Given the description of an element on the screen output the (x, y) to click on. 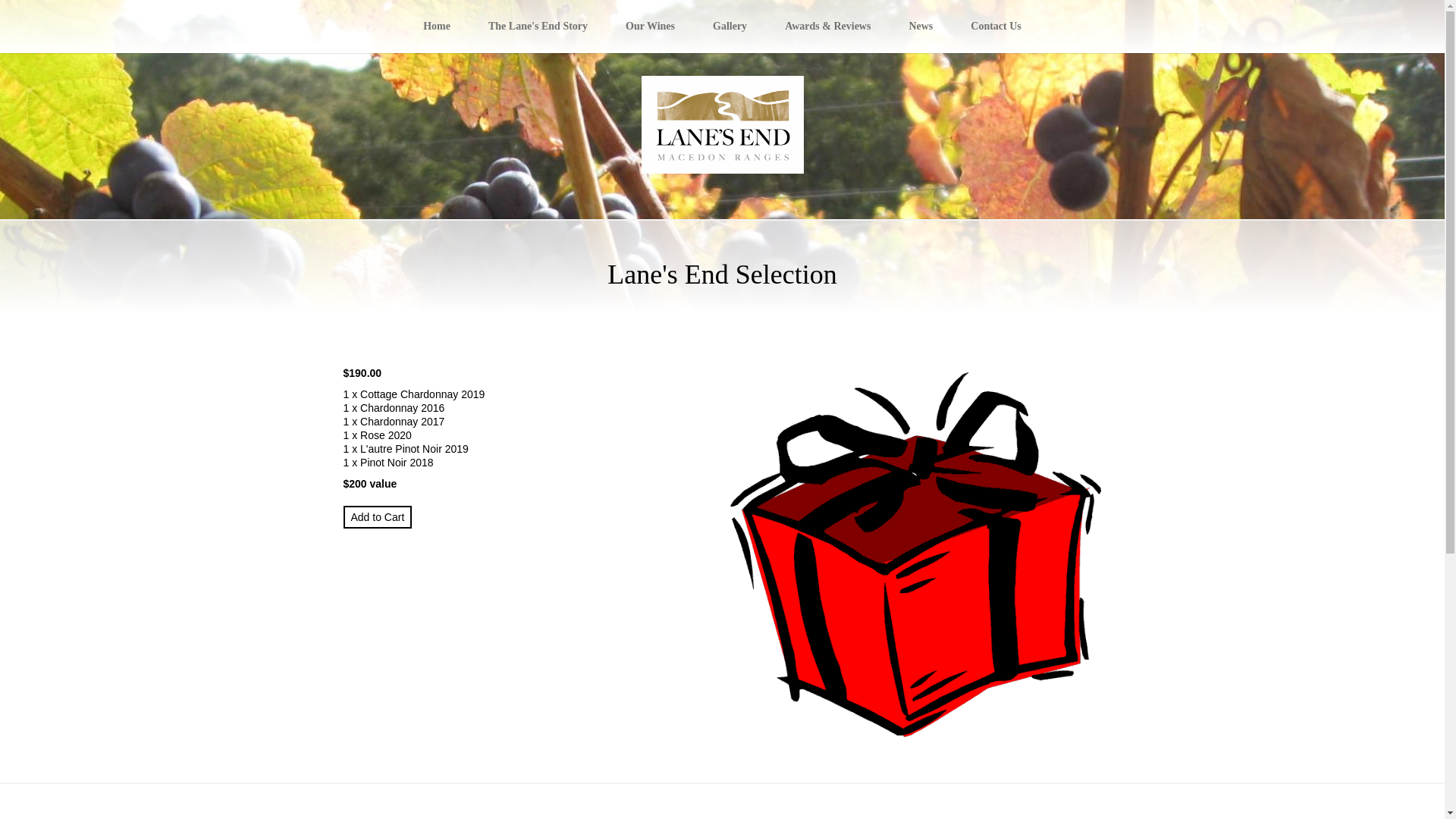
Contact Us Element type: text (995, 26)
Gallery Element type: text (729, 26)
Home Element type: text (436, 26)
Add to Cart Element type: text (376, 516)
Our Wines Element type: text (649, 26)
Gift box.gif Element type: hover (915, 554)
The Lane's End Story Element type: text (537, 26)
Awards & Reviews Element type: text (827, 26)
News Element type: text (920, 26)
Lanes End Vineyard Element type: text (722, 124)
